Given the description of an element on the screen output the (x, y) to click on. 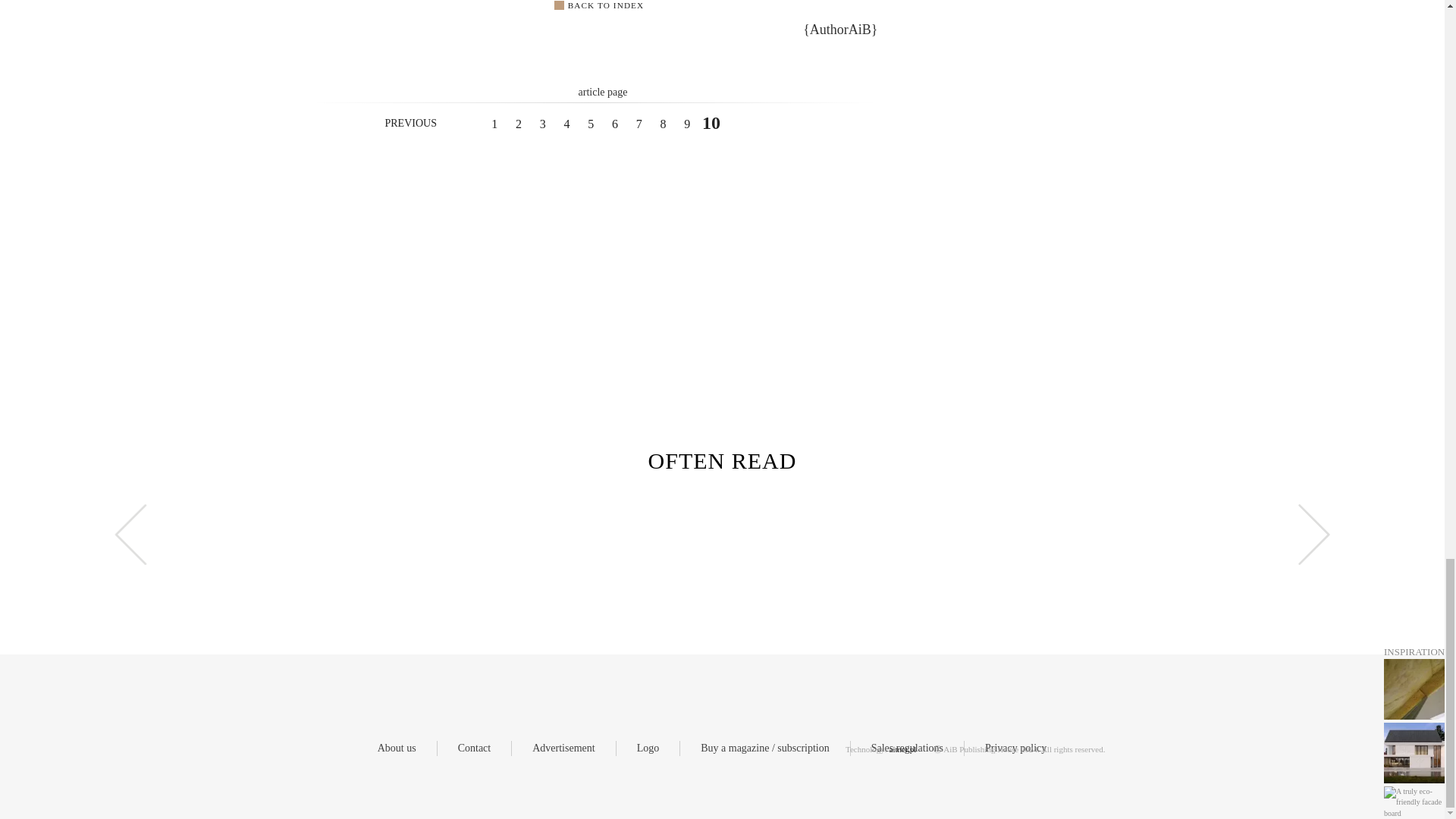
4.  (566, 124)
6.  (615, 124)
9.  (686, 124)
5.  (590, 124)
3.  (542, 124)
2.  (517, 124)
8.  (662, 124)
7.  (638, 124)
10th  (711, 122)
